Given the description of an element on the screen output the (x, y) to click on. 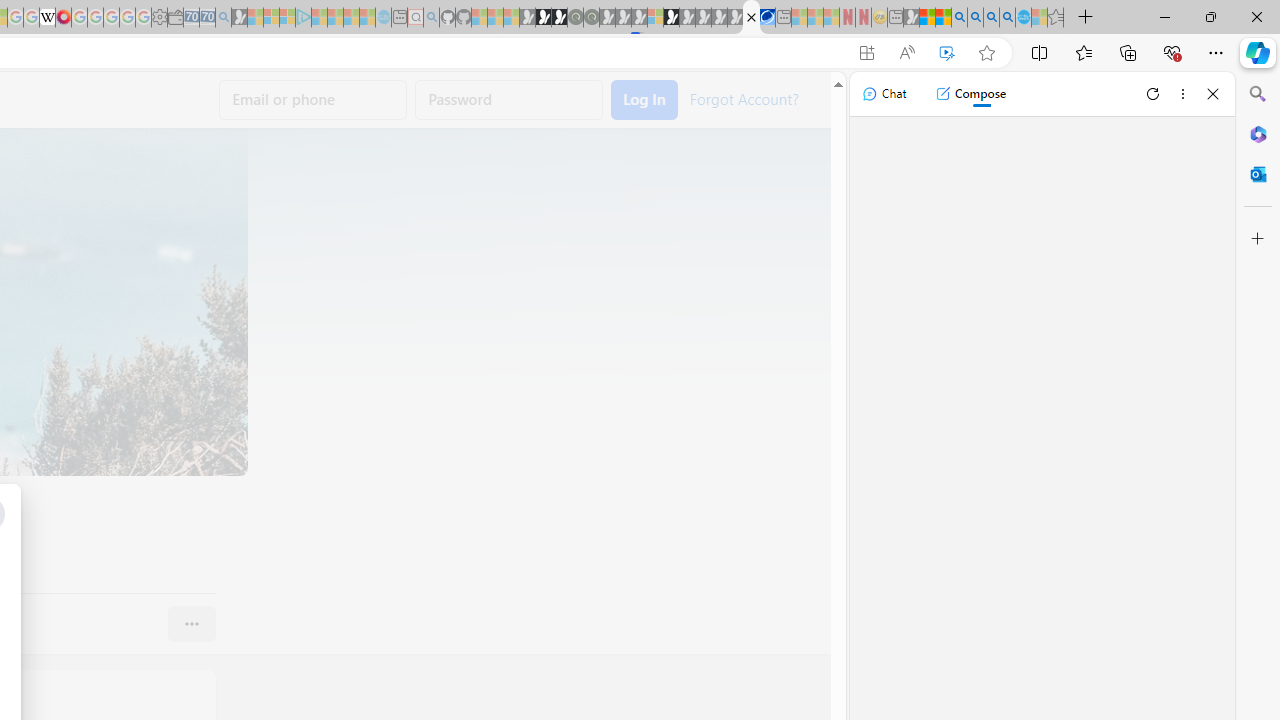
App available. Install Facebook (867, 53)
